Given the description of an element on the screen output the (x, y) to click on. 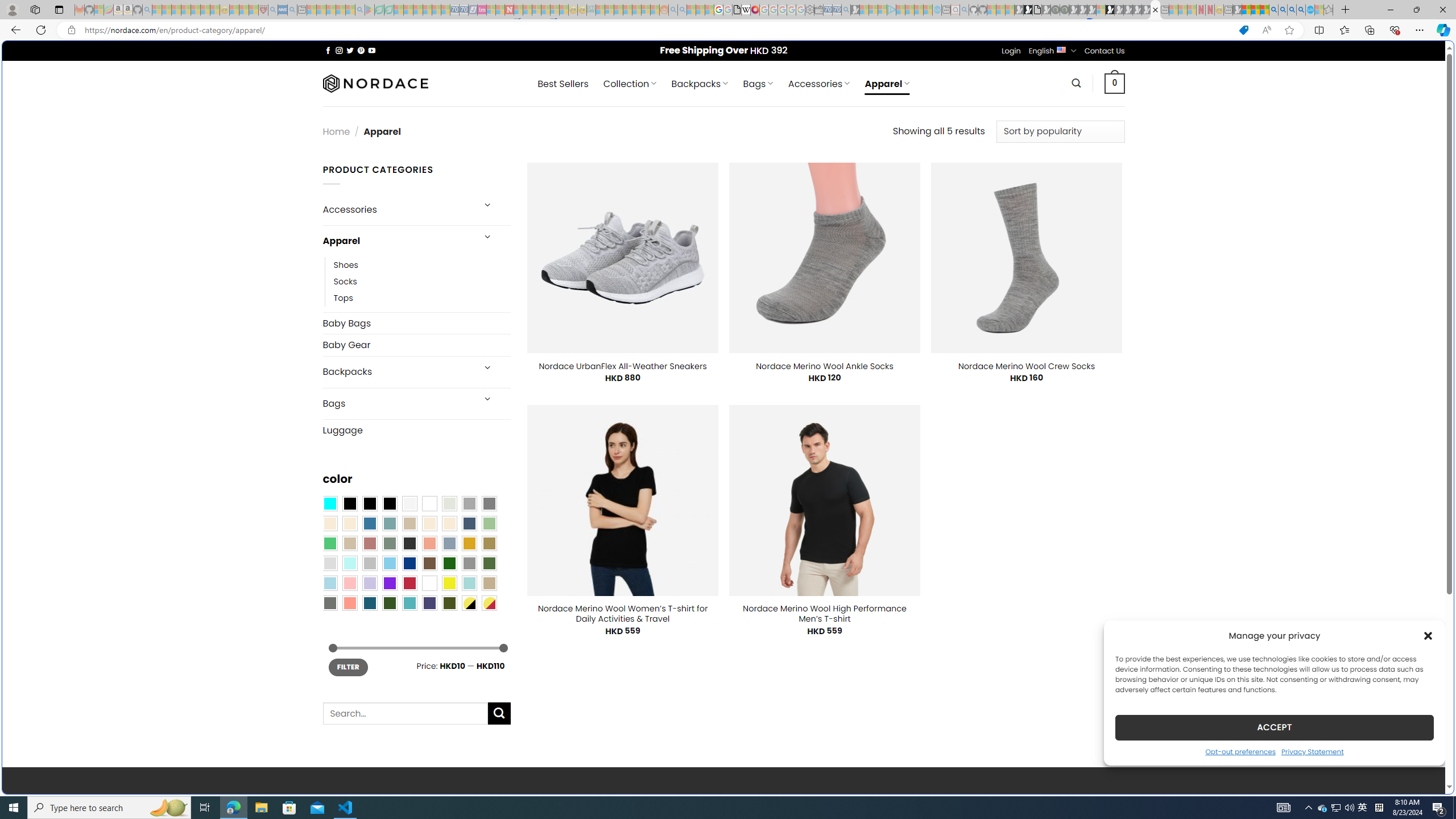
Purple Navy (429, 602)
github - Search - Sleeping (964, 9)
Backpacks (397, 372)
White (429, 582)
Peach Pink (349, 602)
Khaki (488, 582)
Follow on Twitter (349, 49)
This site has coupons! Shopping in Microsoft Edge (1243, 29)
World - MSN (727, 389)
